Given the description of an element on the screen output the (x, y) to click on. 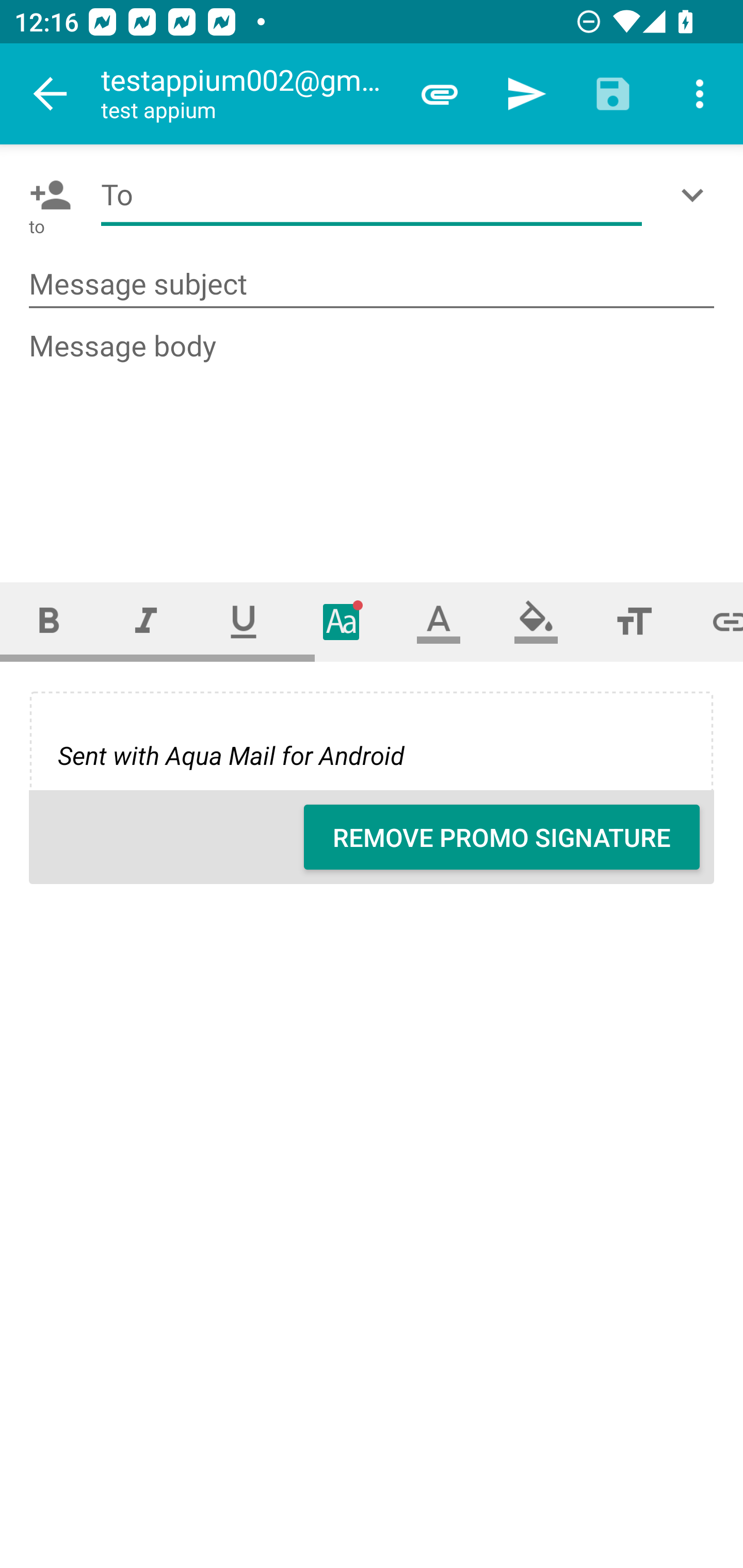
Navigate up (50, 93)
testappium002@gmail.com test appium (248, 93)
Attach (439, 93)
Send (525, 93)
Save (612, 93)
More options (699, 93)
Pick contact: To (46, 195)
Show/Add CC/BCC (696, 195)
To (371, 195)
Message subject (371, 284)
Message body (372, 438)
Bold (48, 621)
Italic (145, 621)
Underline (243, 621)
Typeface (font) (341, 621)
Text color (438, 621)
Fill color (536, 621)
Font size (633, 621)
Set link (712, 621)
REMOVE PROMO SIGNATURE (501, 837)
